Given the description of an element on the screen output the (x, y) to click on. 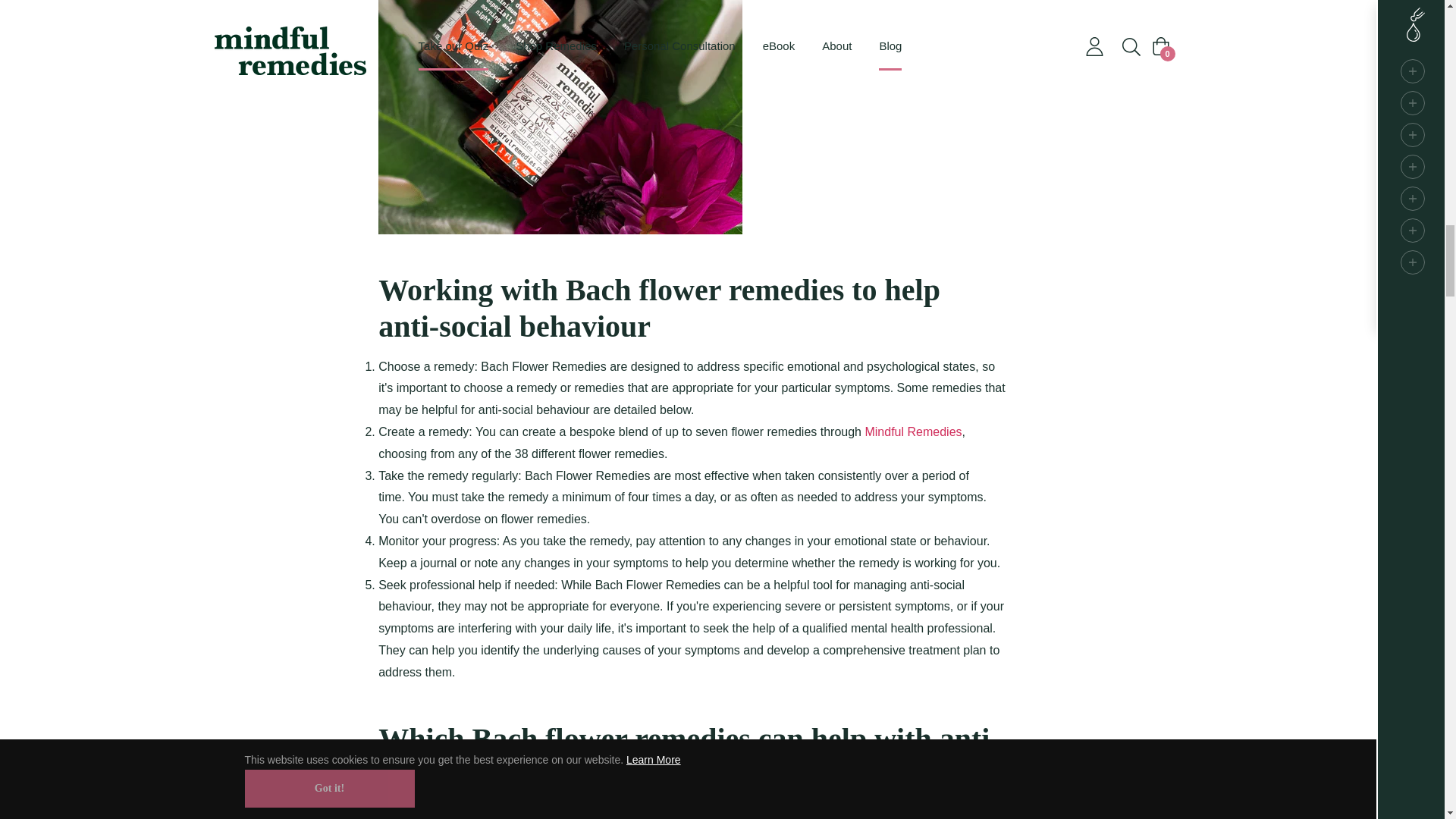
Mindful remedies (912, 431)
